Given the description of an element on the screen output the (x, y) to click on. 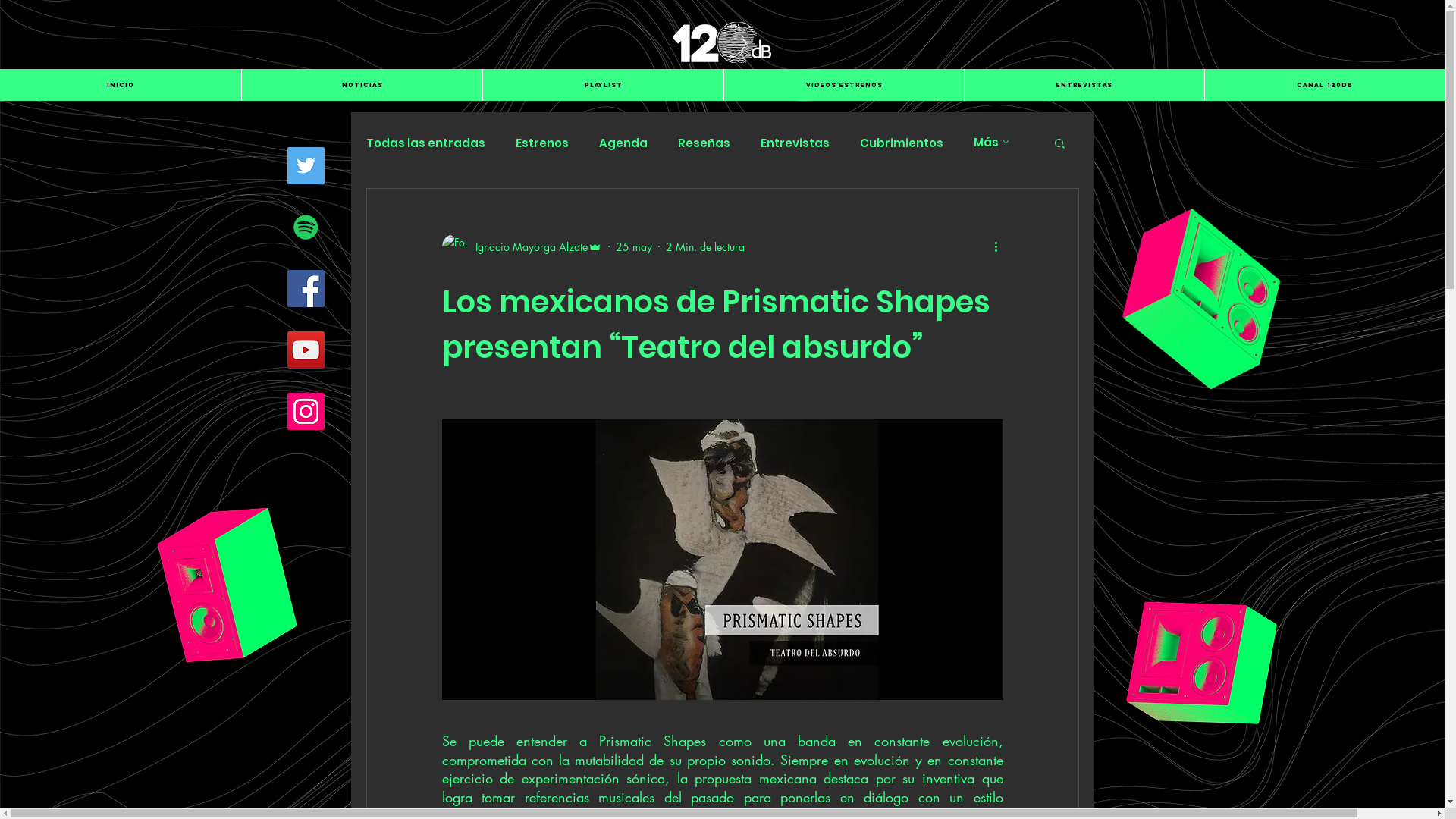
Agenda Element type: text (623, 141)
ENTREVISTAS Element type: text (1083, 84)
PLAYLIST Element type: text (602, 84)
Entrevistas Element type: text (793, 141)
Estrenos Element type: text (541, 141)
INICIO Element type: text (120, 84)
Cubrimientos Element type: text (901, 141)
NOTICIAS Element type: text (361, 84)
Todas las entradas Element type: text (424, 141)
CANAL 120dB Element type: text (1324, 84)
VIDEOS ESTRENOS Element type: text (843, 84)
